Given the description of an element on the screen output the (x, y) to click on. 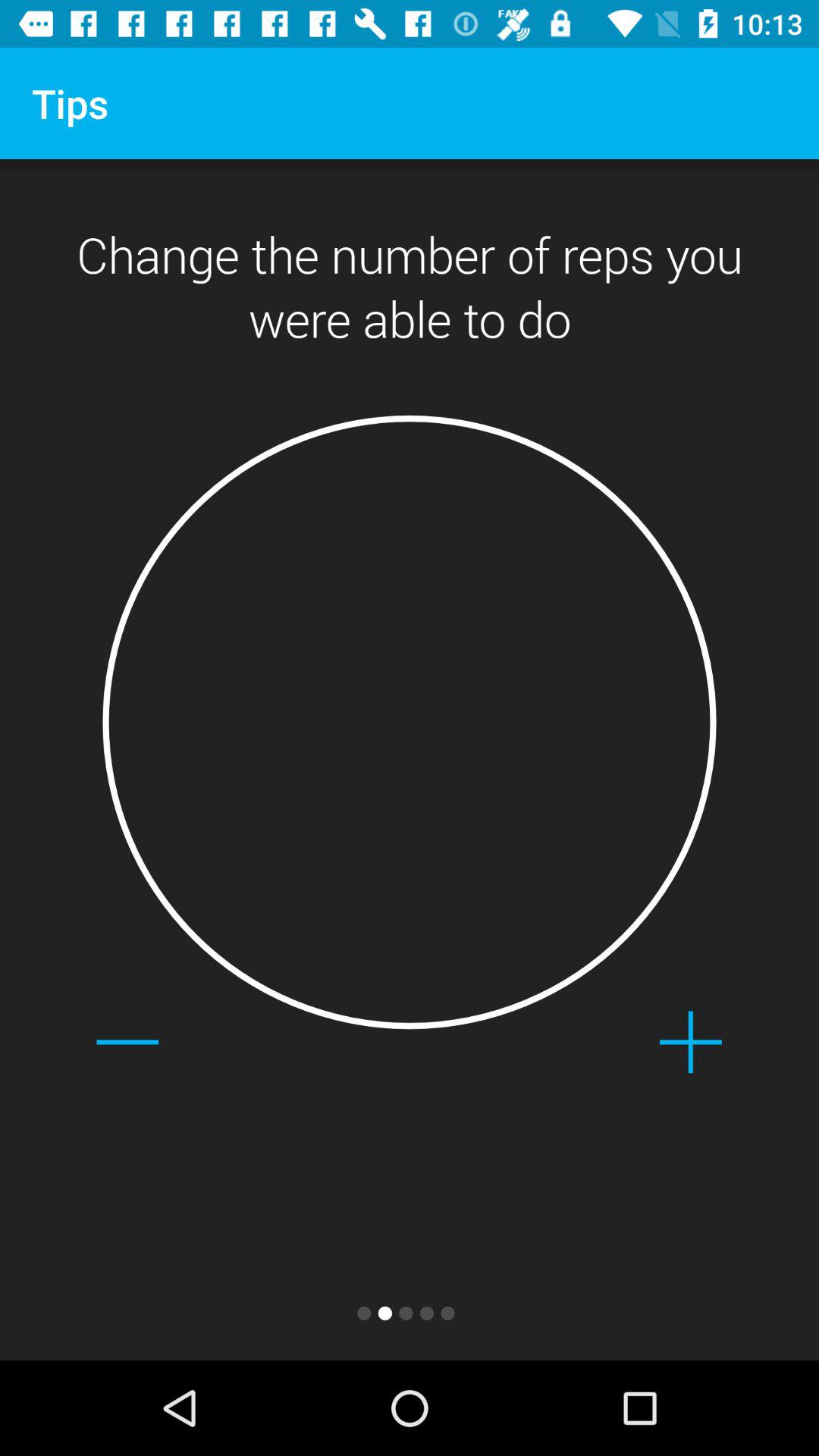
turn off the item at the bottom right corner (690, 1042)
